Given the description of an element on the screen output the (x, y) to click on. 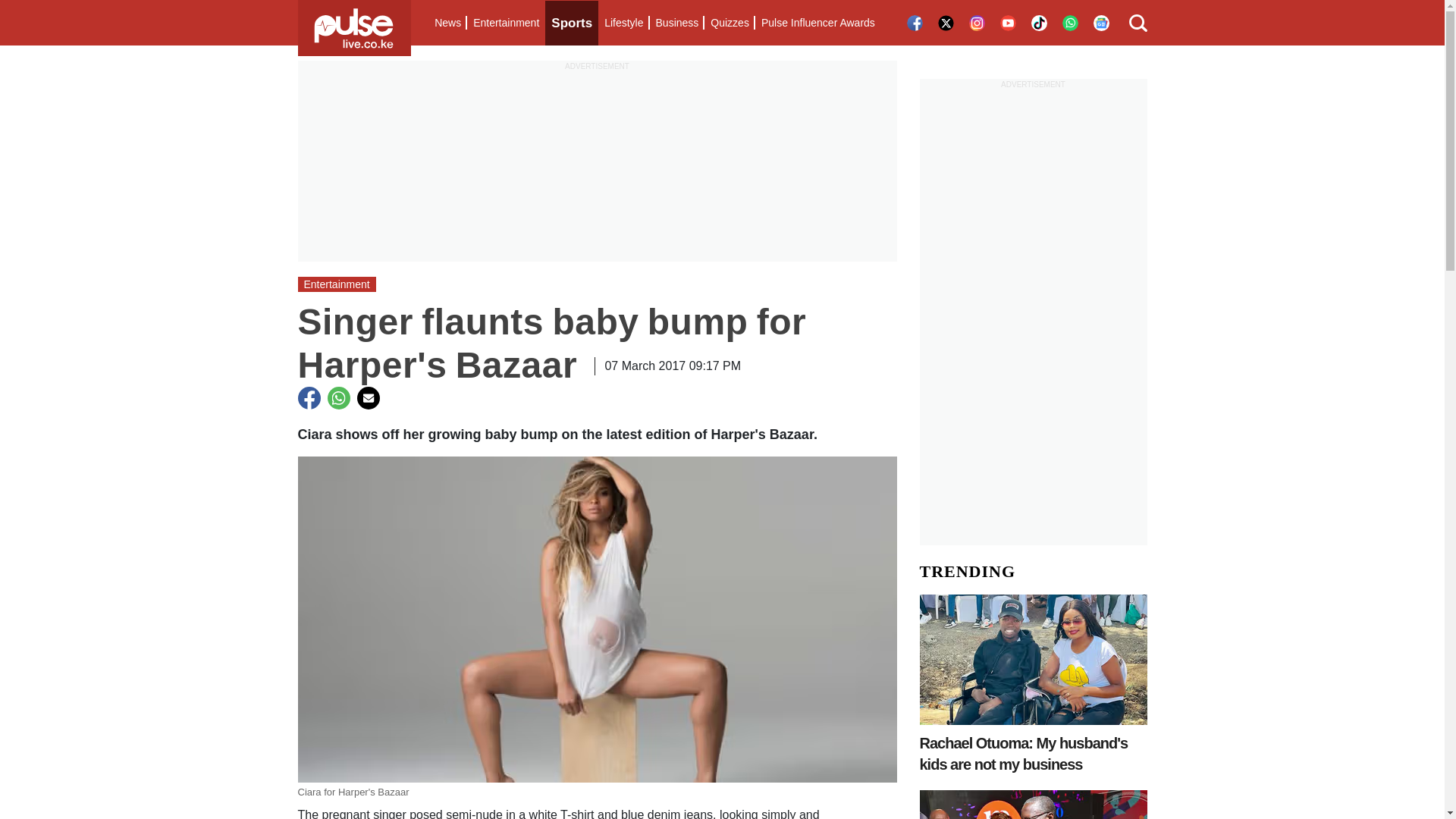
Entertainment (505, 22)
Pulse Influencer Awards (817, 22)
Sports (571, 22)
Quizzes (729, 22)
Lifestyle (623, 22)
Business (676, 22)
